Given the description of an element on the screen output the (x, y) to click on. 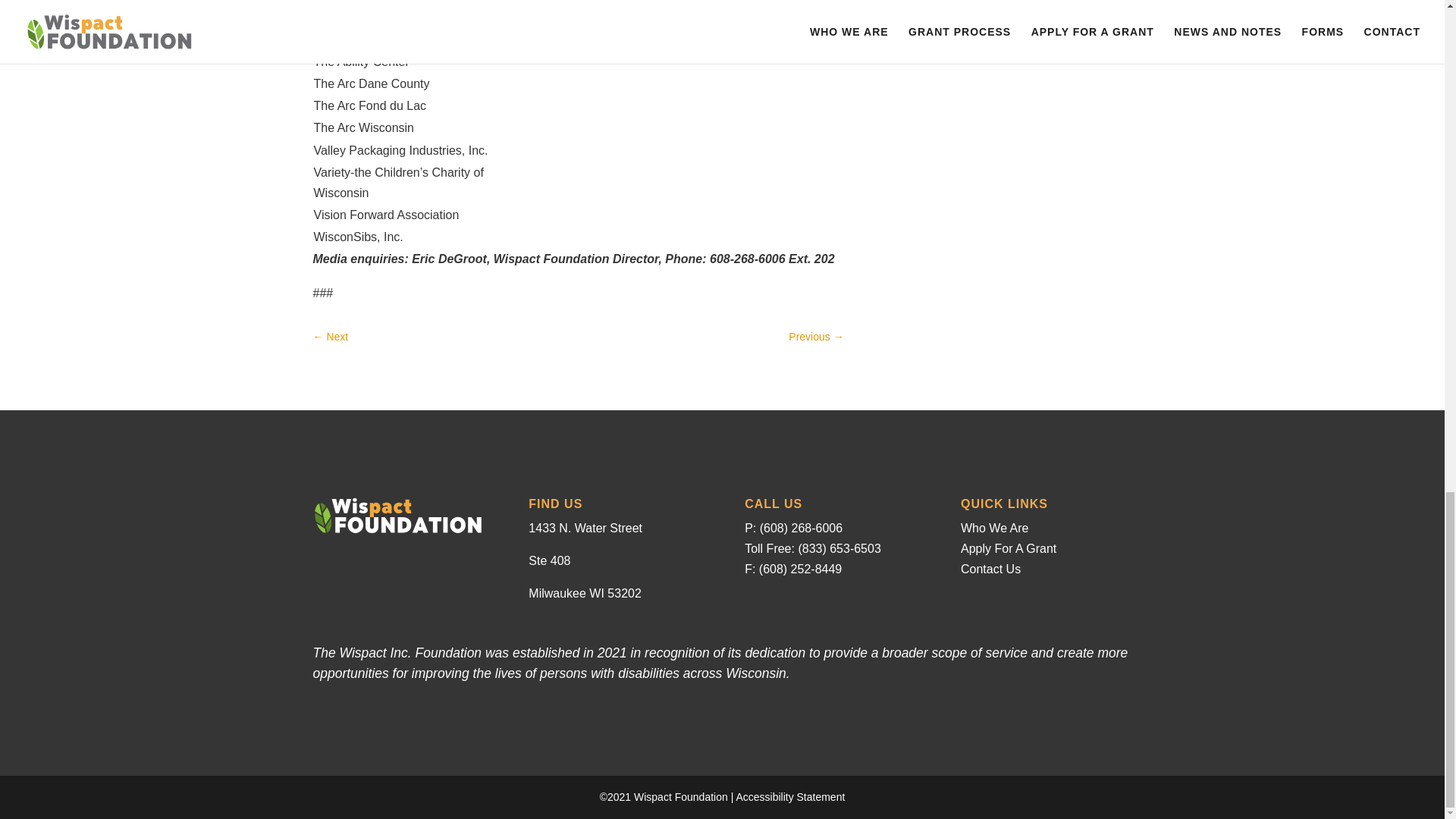
Accessibility Statement (789, 797)
Who We Are (994, 527)
Contact Us (990, 568)
Apply For A Grant (1008, 548)
